Given the description of an element on the screen output the (x, y) to click on. 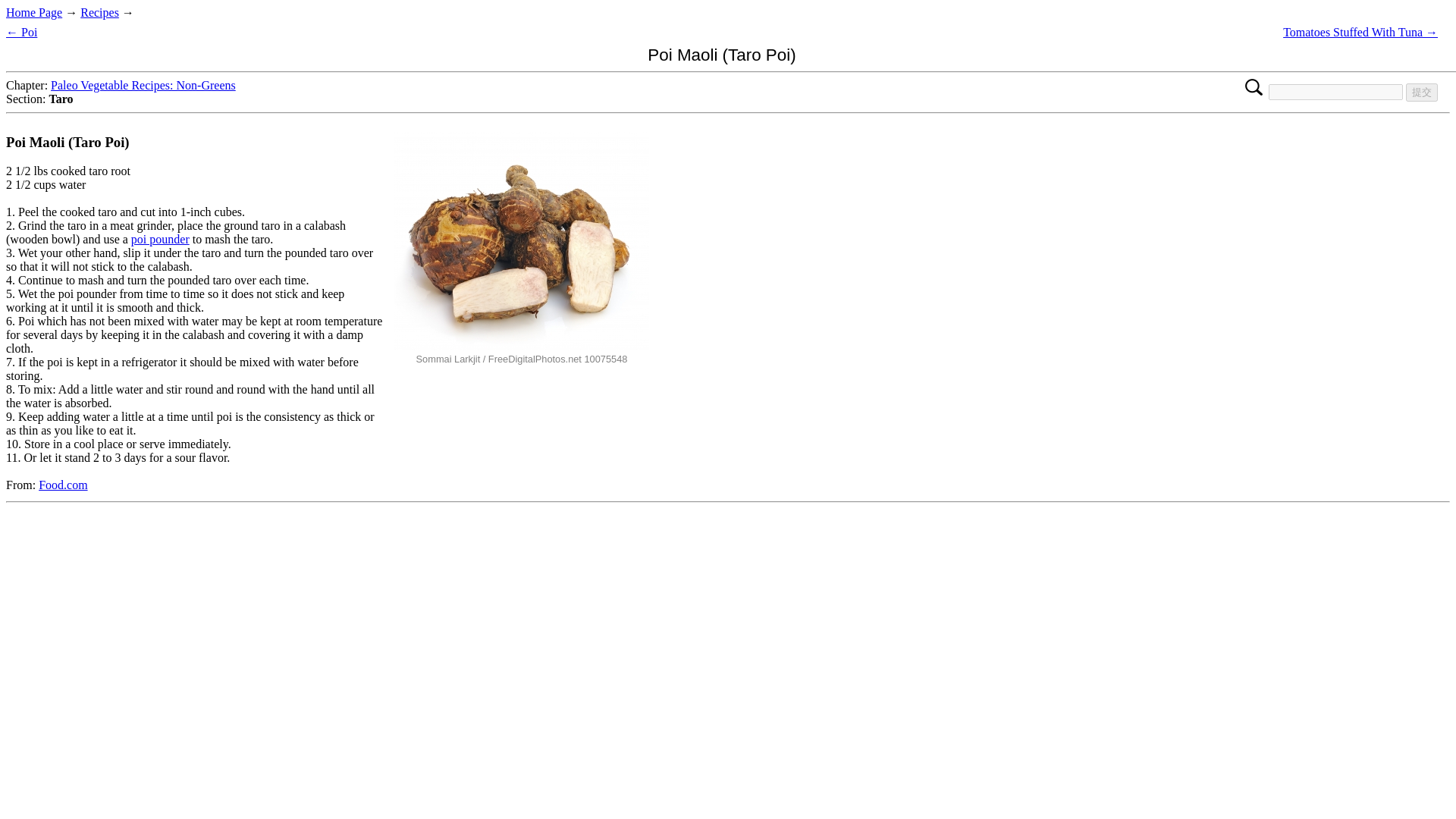
Go to Previous (21, 31)
Go to Next (1360, 31)
Recipes (99, 11)
search website (1335, 91)
Paleo Vegetable Recipes: Non-Greens (142, 84)
Home Page (33, 11)
poi pounder (160, 238)
Food.com (63, 484)
